Given the description of an element on the screen output the (x, y) to click on. 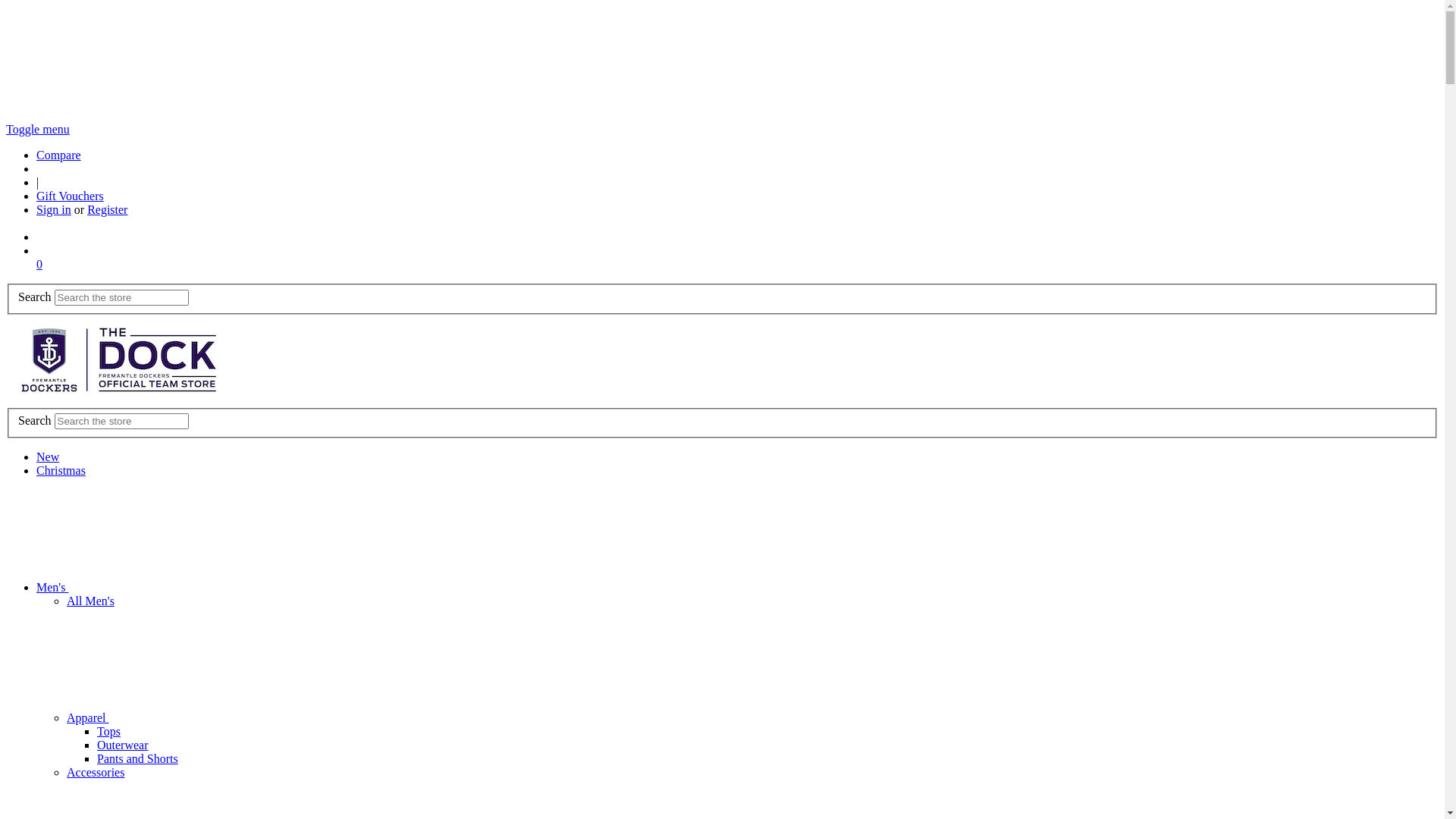
All Men's Element type: text (90, 600)
Gift Vouchers Element type: text (69, 195)
0 Element type: text (39, 263)
Toggle menu Element type: text (37, 128)
Apparel Element type: text (201, 717)
Tops Element type: text (108, 730)
Outerwear Element type: text (122, 744)
New Element type: text (47, 456)
Pants and Shorts Element type: text (137, 758)
The Dock, Fremantle Dockers Team Store Element type: hover (119, 359)
Men's Element type: text (165, 586)
Sign in Element type: text (53, 209)
Accessories Element type: text (95, 771)
Christmas Element type: text (60, 470)
Register Element type: text (107, 209)
Compare Element type: text (58, 154)
